Given the description of an element on the screen output the (x, y) to click on. 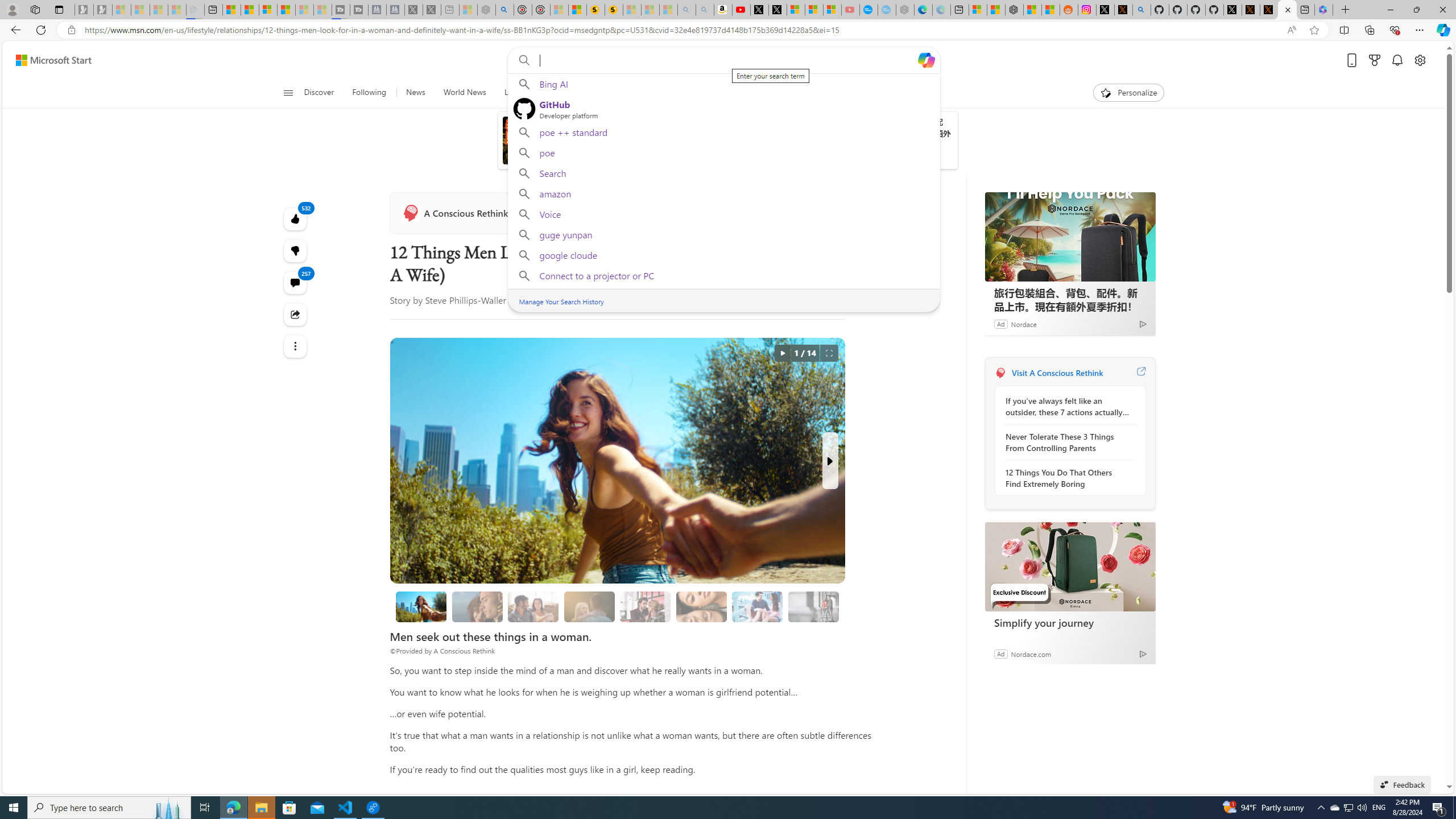
1. She is compassionate. (476, 606)
Lifestyle (807, 92)
Personalize (1128, 92)
A Conscious Rethink (456, 212)
Science (553, 92)
World News (464, 92)
